Given the description of an element on the screen output the (x, y) to click on. 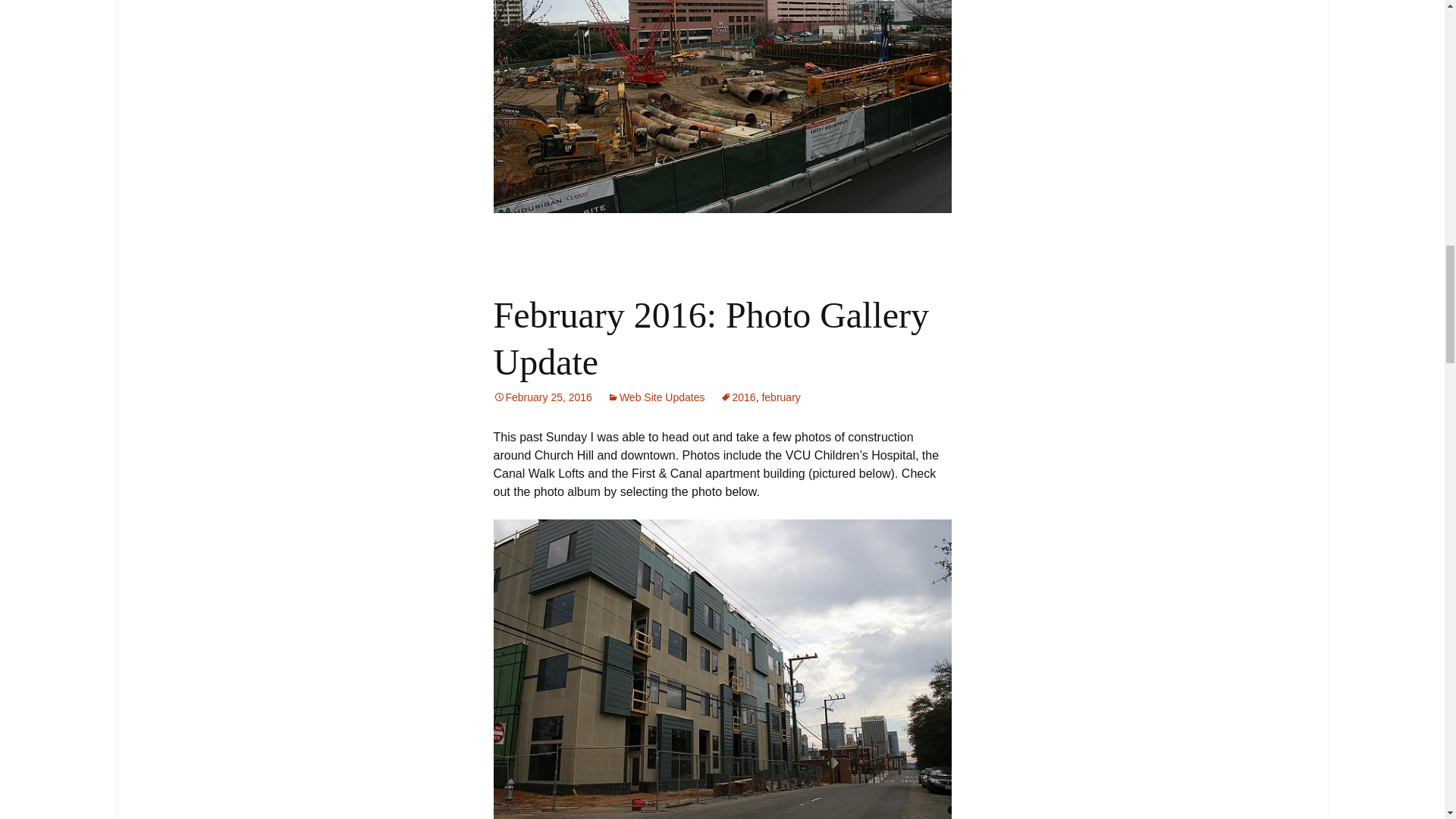
February 2016: Photo Gallery Update (710, 338)
2016 (737, 397)
Permalink to February 2016: Photo Gallery Update (542, 397)
February 25, 2016 (542, 397)
february (780, 397)
Web Site Updates (655, 397)
